Given the description of an element on the screen output the (x, y) to click on. 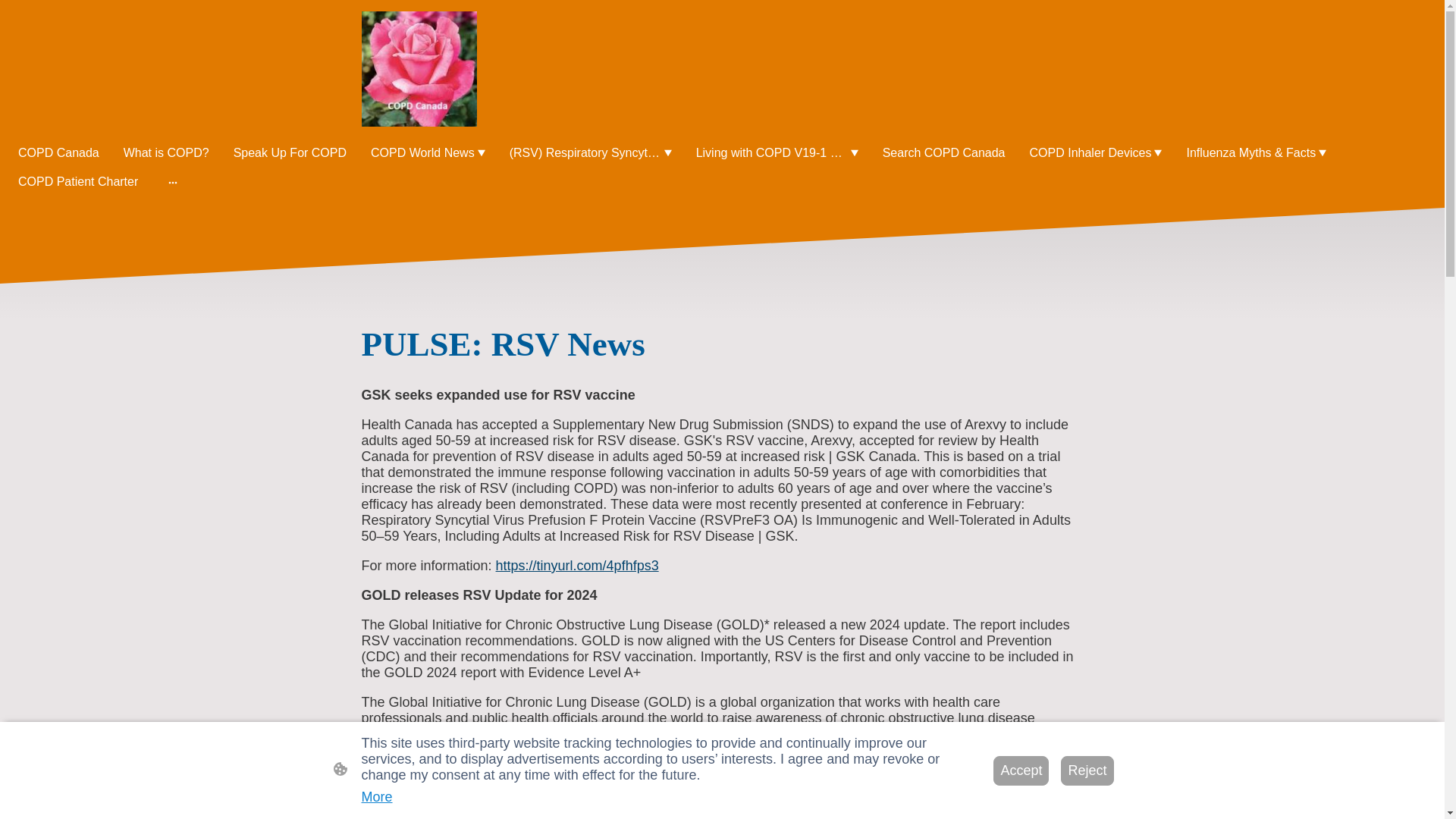
What is COPD? (166, 153)
Speak Up For COPD (289, 153)
COPD Canada (58, 153)
COPD World News (427, 153)
